Given the description of an element on the screen output the (x, y) to click on. 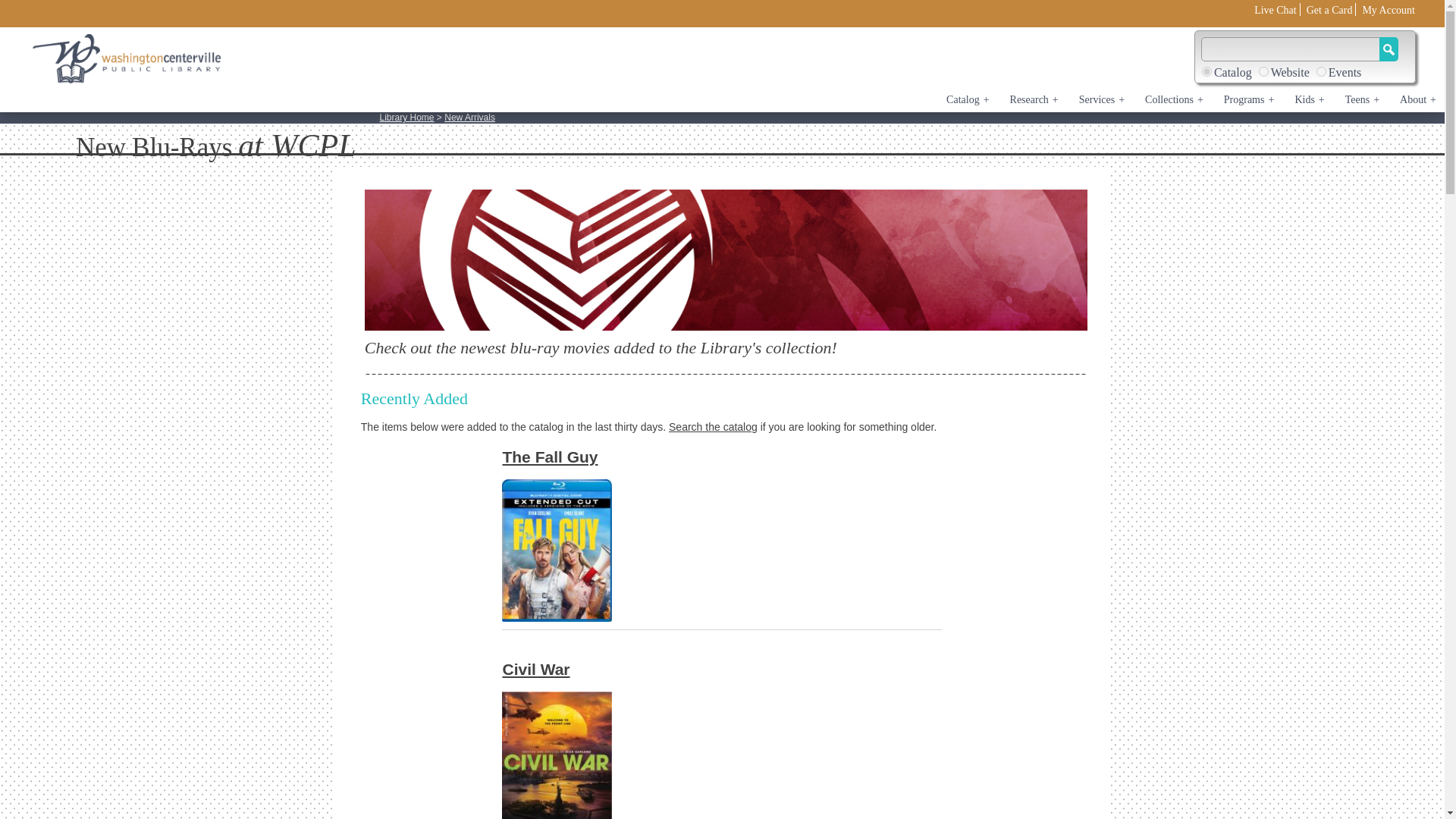
events (1321, 71)
Link opens in new window (1275, 9)
Link opens in new window (1388, 9)
Get a Card (1329, 9)
WCPL Home (127, 60)
website (1263, 71)
Library Collection (725, 259)
My Account (1388, 9)
Live Chat (1275, 9)
encore (1206, 71)
